Given the description of an element on the screen output the (x, y) to click on. 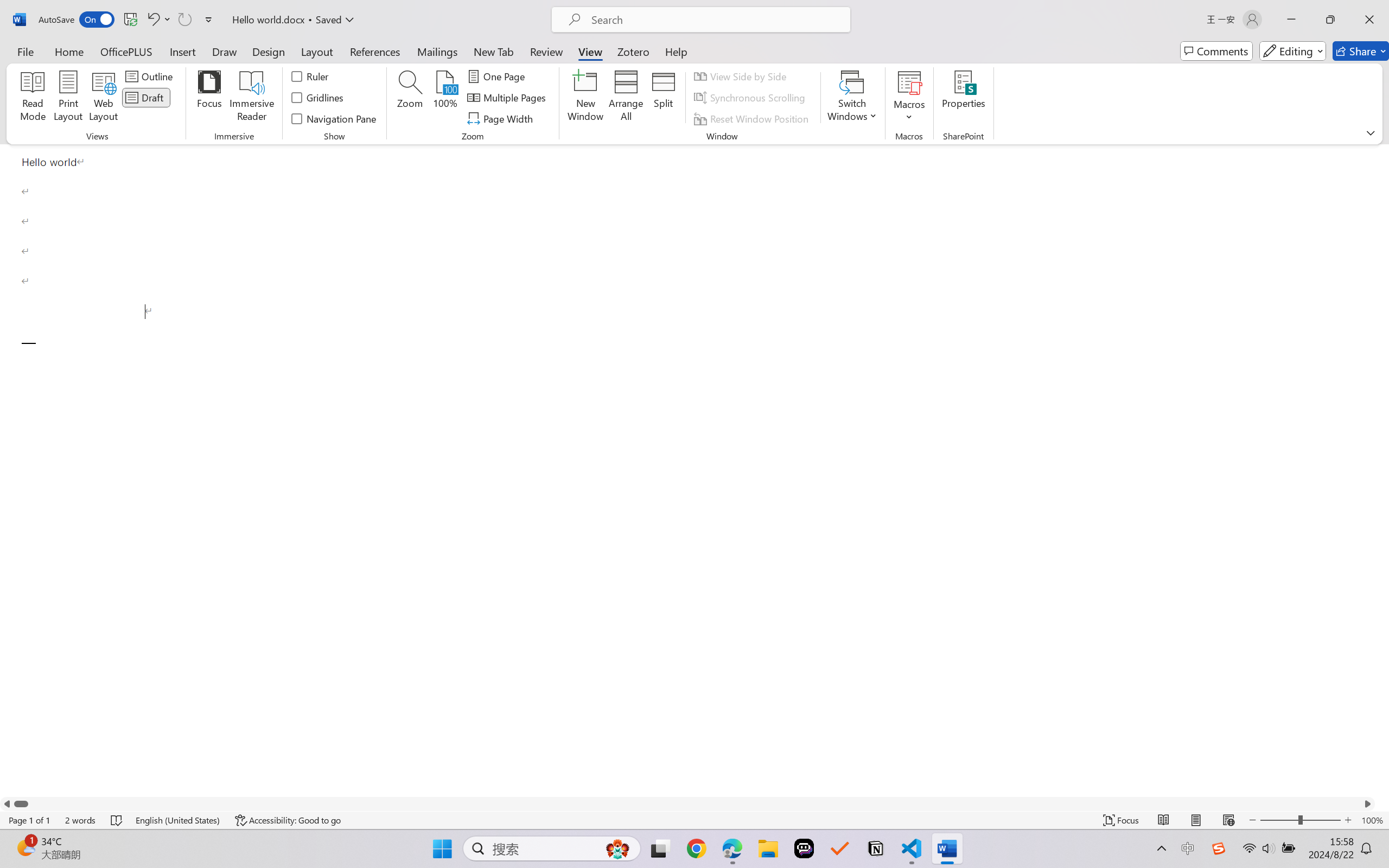
Comments (1216, 50)
Save (130, 19)
File Tab (24, 51)
Accessibility Checker Accessibility: Good to go (288, 819)
Column left (6, 803)
